Given the description of an element on the screen output the (x, y) to click on. 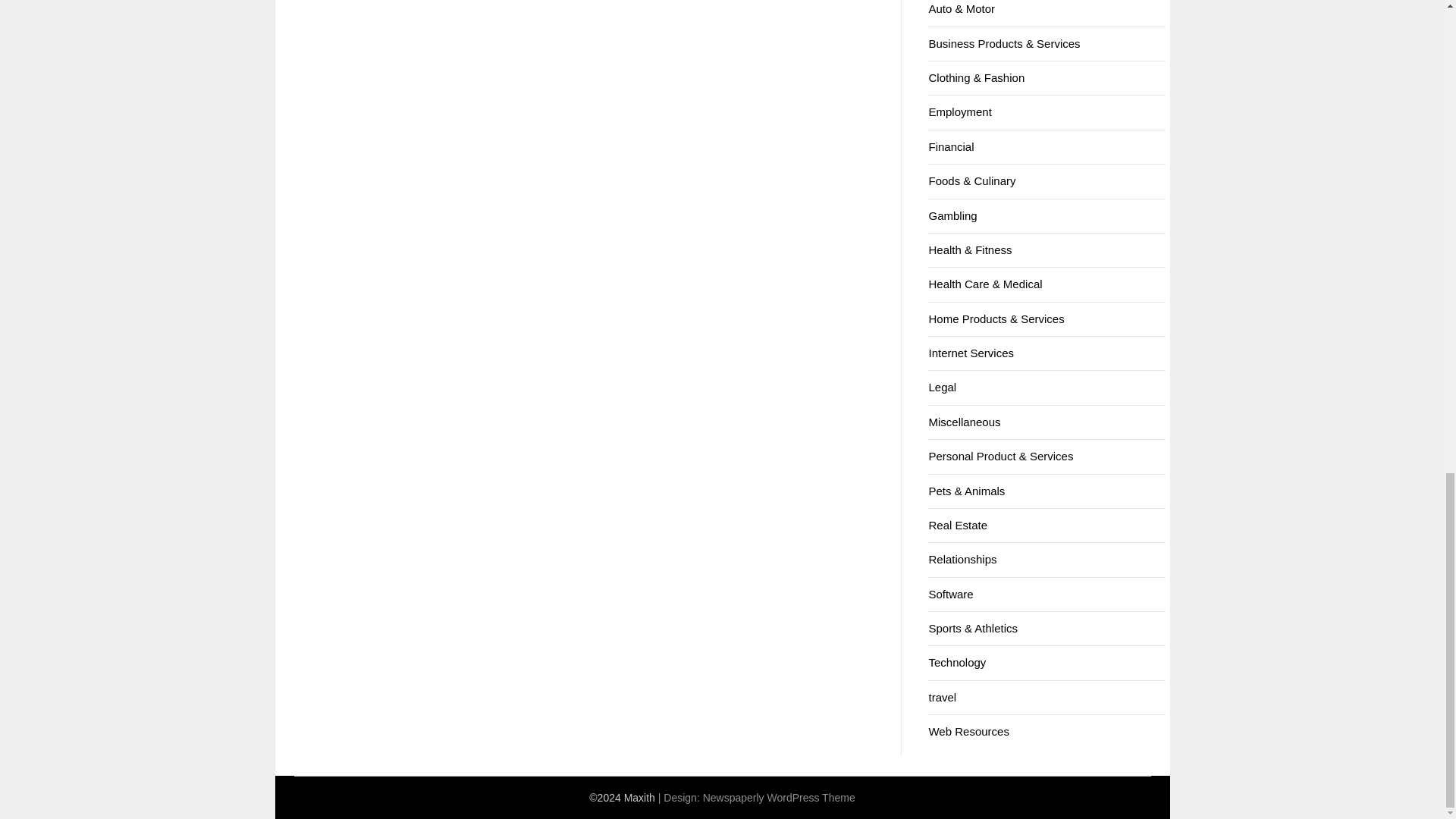
Employment (959, 111)
Gambling (952, 215)
Financial (951, 146)
